Given the description of an element on the screen output the (x, y) to click on. 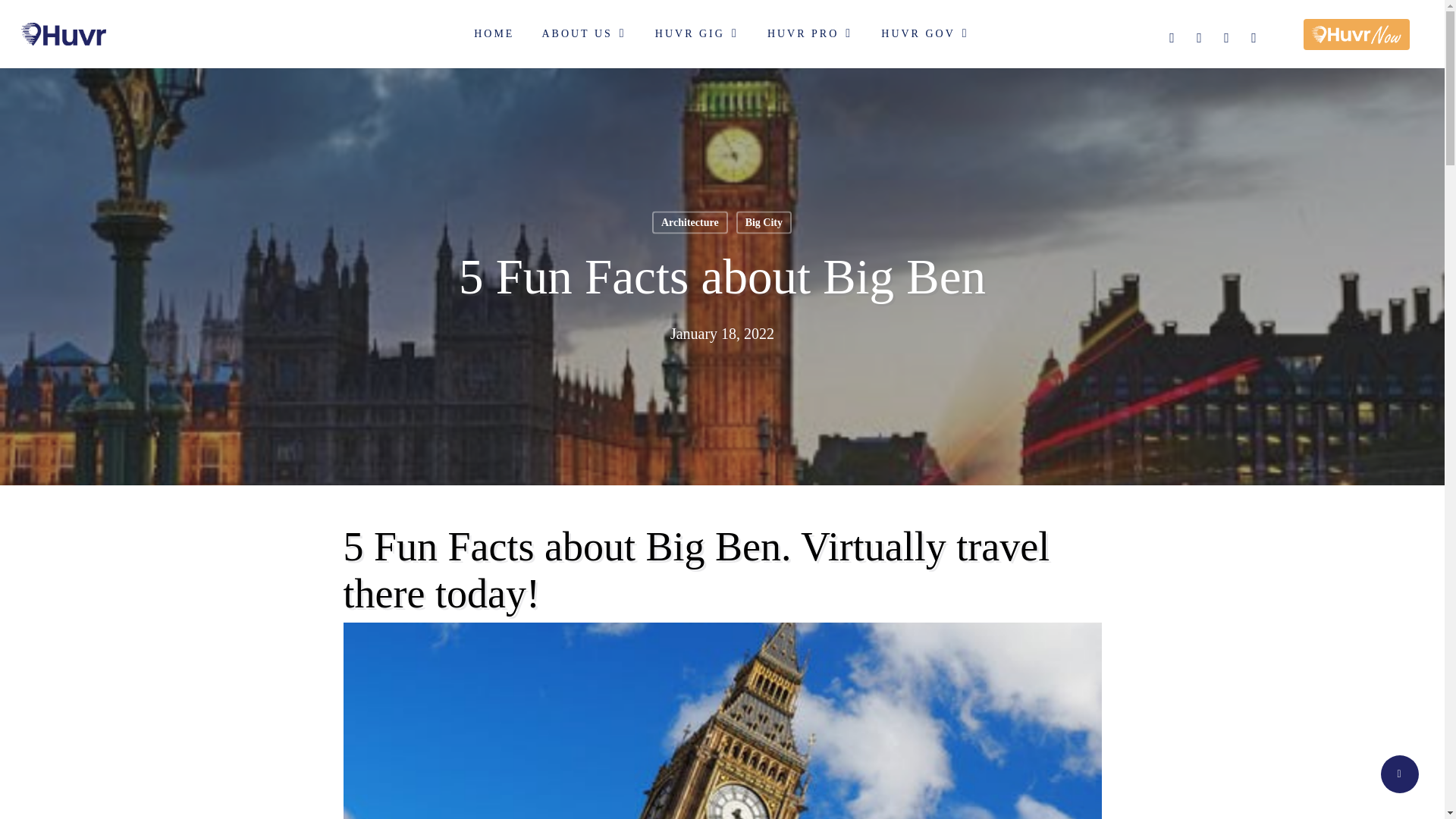
INSTAGRAM (1254, 36)
LINKEDIN (1200, 36)
Big City (764, 221)
FACEBOOK (1172, 36)
Architecture (690, 221)
HUVR GOV (925, 33)
HUVR GIG (697, 33)
HOME (493, 33)
HUVR PRO (810, 33)
ABOUT US (584, 33)
TWITTER (1227, 36)
